Given the description of an element on the screen output the (x, y) to click on. 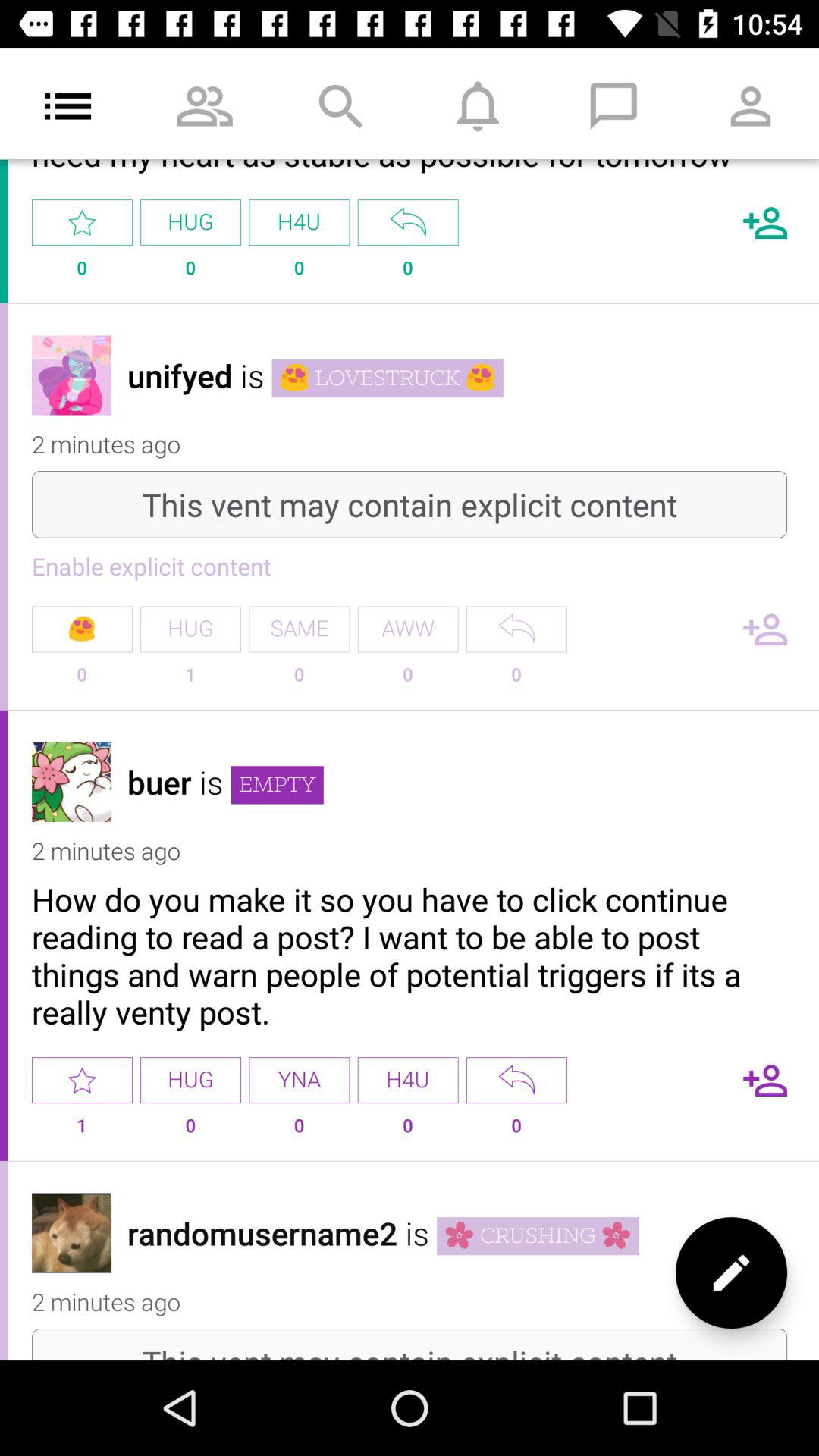
open icon to the right of is icon (276, 785)
